Given the description of an element on the screen output the (x, y) to click on. 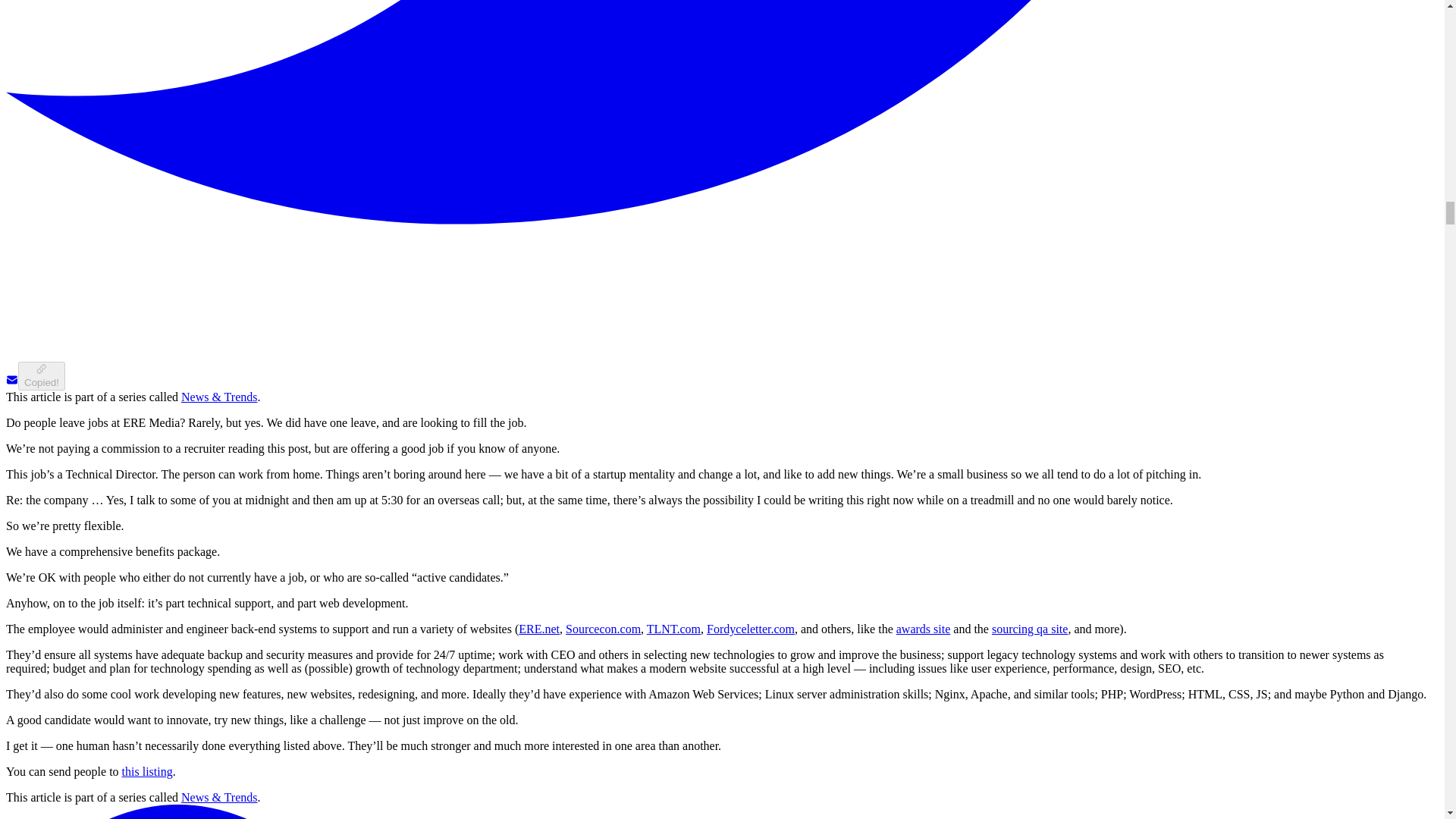
Fordyceletter.com (750, 628)
this listing (147, 771)
ERE.net (538, 628)
Sourcecon.com (603, 628)
sourcing qa site (1029, 628)
Copied! (41, 375)
TLNT.com (673, 628)
awards site (923, 628)
